Given the description of an element on the screen output the (x, y) to click on. 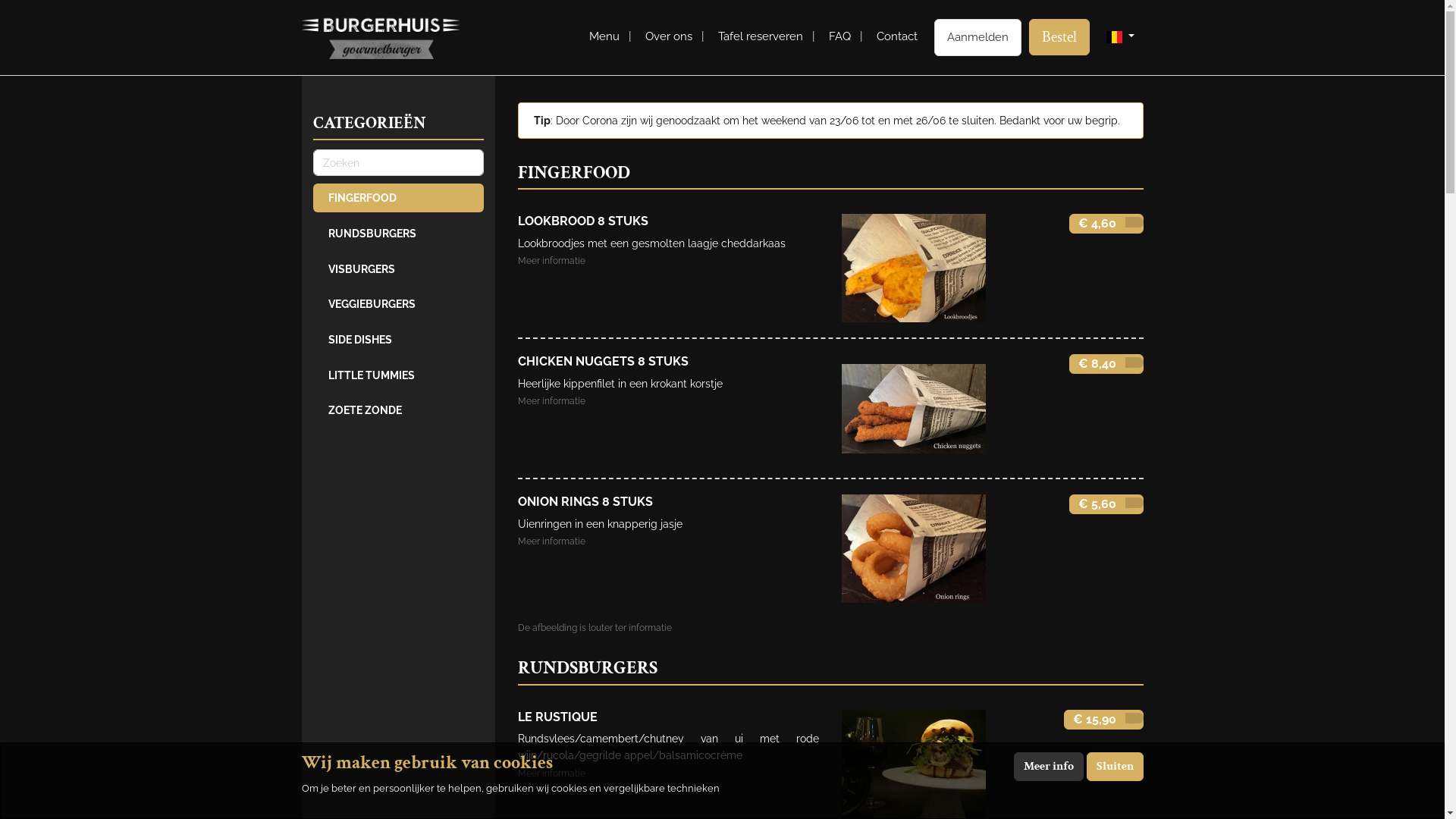
Lookbrood 8 stuks Element type: hover (913, 267)
Contact Element type: text (896, 36)
RUNDSBURGERS Element type: text (397, 233)
VISBURGERS Element type: text (397, 268)
LITTLE TUMMIES Element type: text (397, 374)
VEGGIEBURGERS Element type: text (397, 303)
Dutch Element type: hover (1114, 37)
Aanmelden Element type: text (977, 37)
FINGERFOOD Element type: text (397, 197)
Over ons Element type: text (668, 36)
FAQ Element type: text (839, 36)
Bestel Element type: text (1059, 36)
Meer info Element type: text (1047, 766)
Burgerhuis Element type: hover (380, 37)
Onion rings 8 stuks Element type: hover (913, 548)
Chicken nuggets 8 stuks Element type: hover (913, 408)
Menu Element type: text (604, 36)
Le Rustique Element type: hover (913, 763)
ZOETE ZONDE Element type: text (397, 409)
SIDE DISHES Element type: text (397, 339)
Tafel reserveren Element type: text (760, 36)
Zoeken Element type: hover (397, 162)
Sluiten Element type: text (1113, 766)
